Given the description of an element on the screen output the (x, y) to click on. 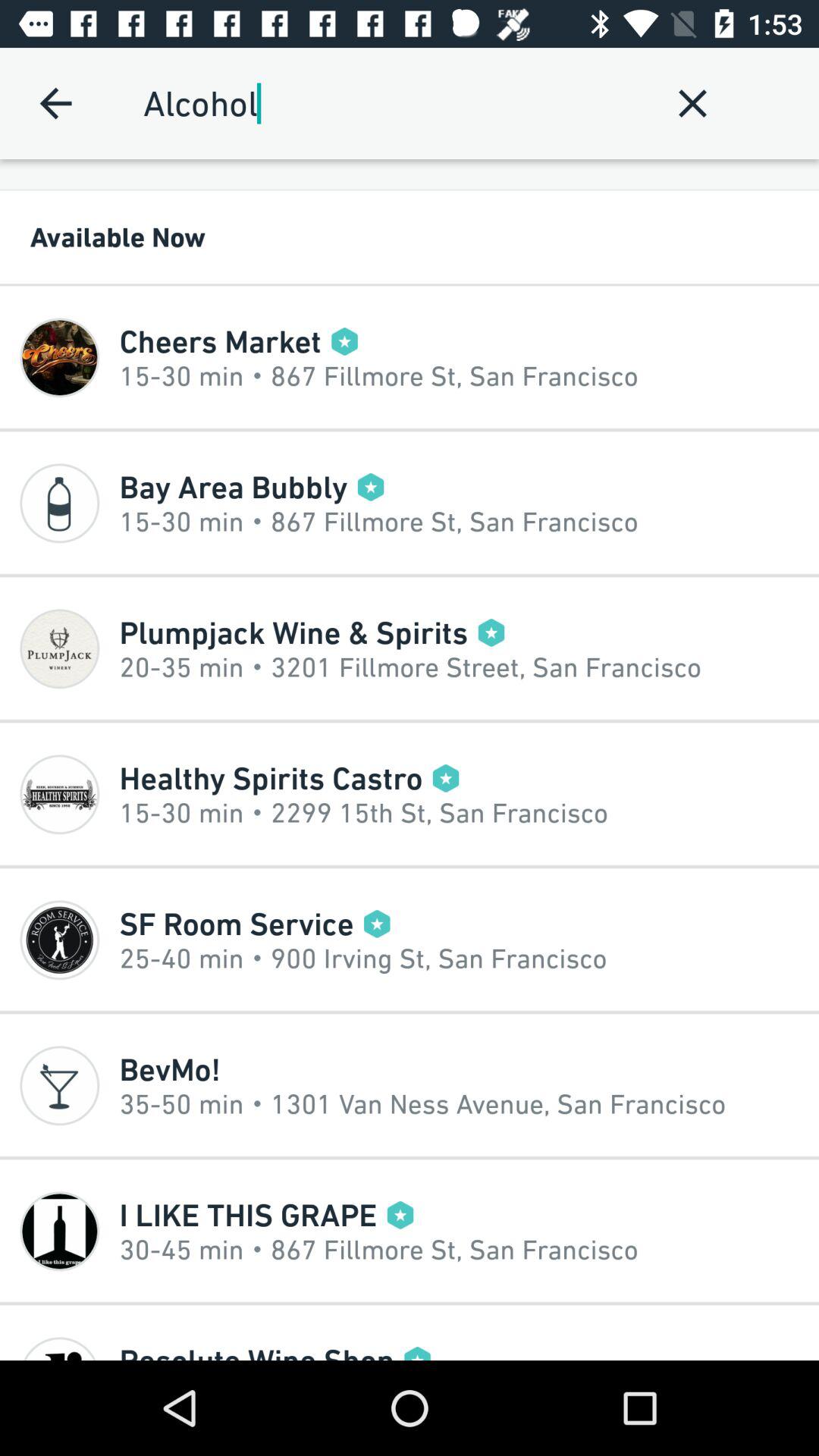
go to left of bay area bubbly (59, 503)
select the field which says alcohol (389, 102)
